Given the description of an element on the screen output the (x, y) to click on. 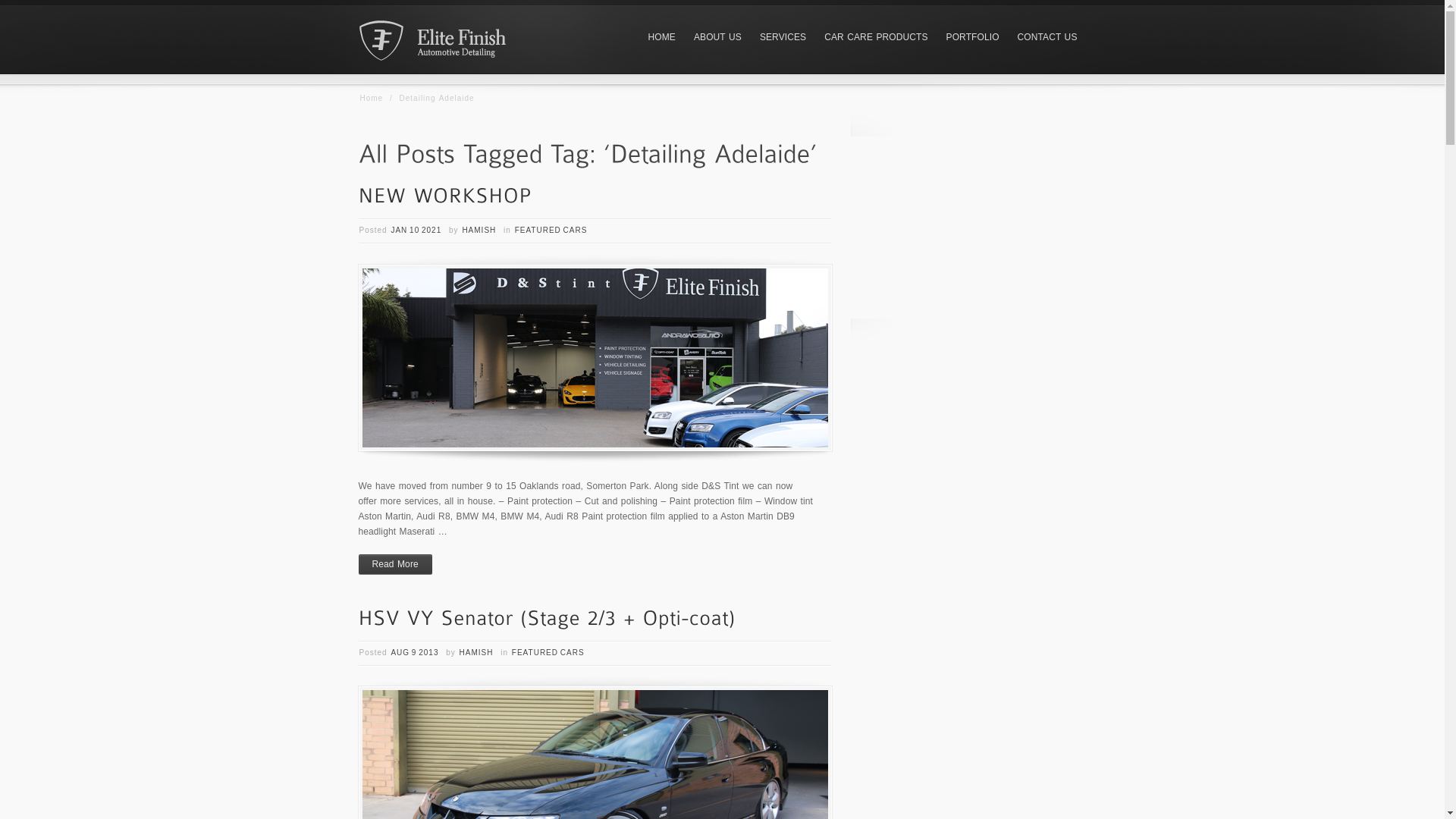
SERVICES Element type: text (782, 37)
HAMISH Element type: text (476, 652)
NEW WORKSHOP Element type: hover (594, 357)
HSV VY Senator (Stage 2/3 + Opti-coat) Element type: text (546, 615)
AUG 9 2013 Element type: text (414, 652)
Read More Element type: text (394, 564)
NEW WORKSHOP Element type: text (444, 193)
HAMISH Element type: text (478, 229)
JAN 10 2021 Element type: text (415, 229)
Home Element type: text (370, 98)
PORTFOLIO Element type: text (972, 37)
ABOUT US Element type: text (717, 37)
CAR CARE PRODUCTS Element type: text (875, 37)
HOME Element type: text (661, 37)
CONTACT US Element type: text (1047, 37)
FEATURED CARS Element type: text (550, 229)
FEATURED CARS Element type: text (547, 652)
